Given the description of an element on the screen output the (x, y) to click on. 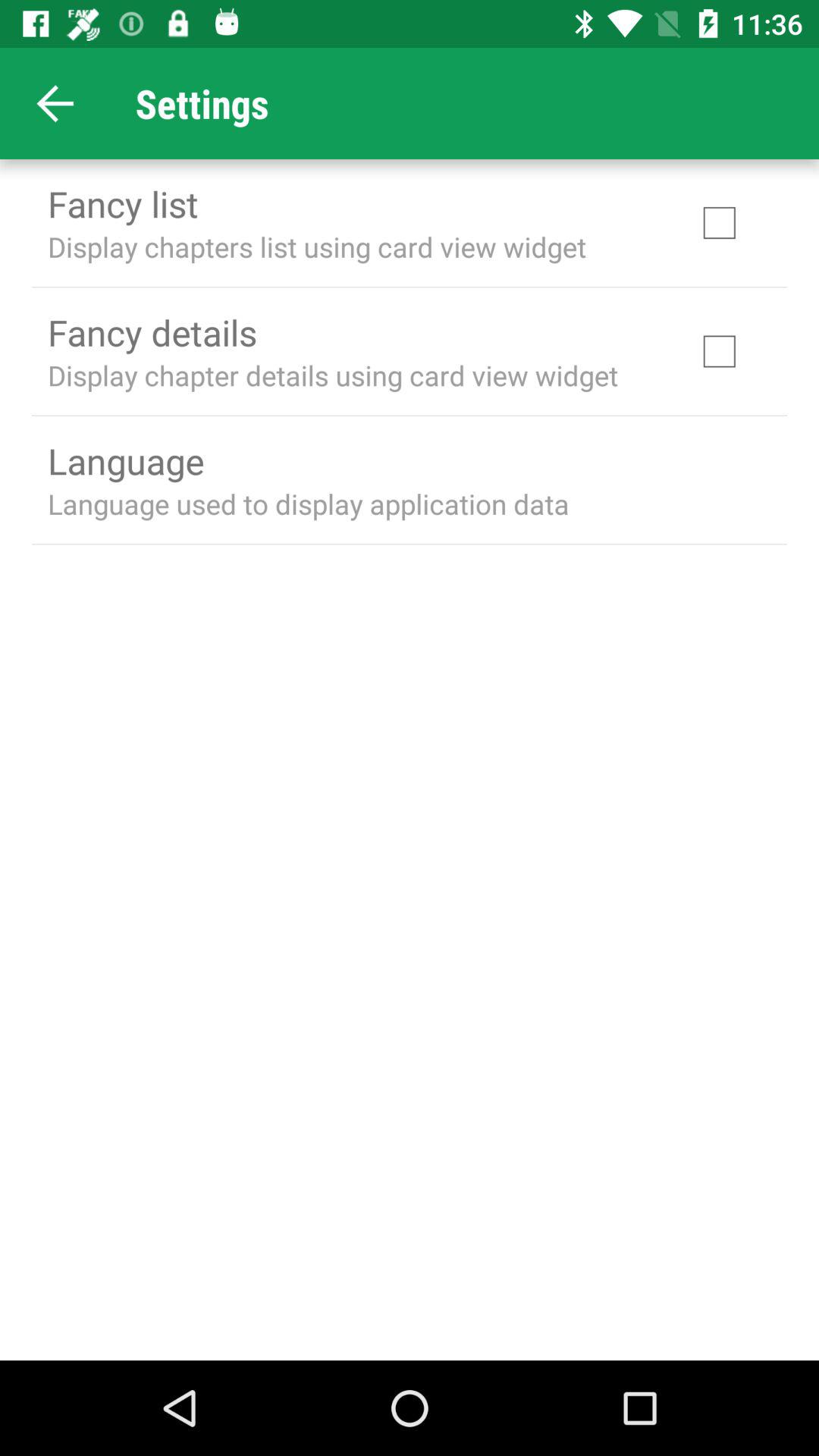
click item below fancy list app (316, 246)
